Given the description of an element on the screen output the (x, y) to click on. 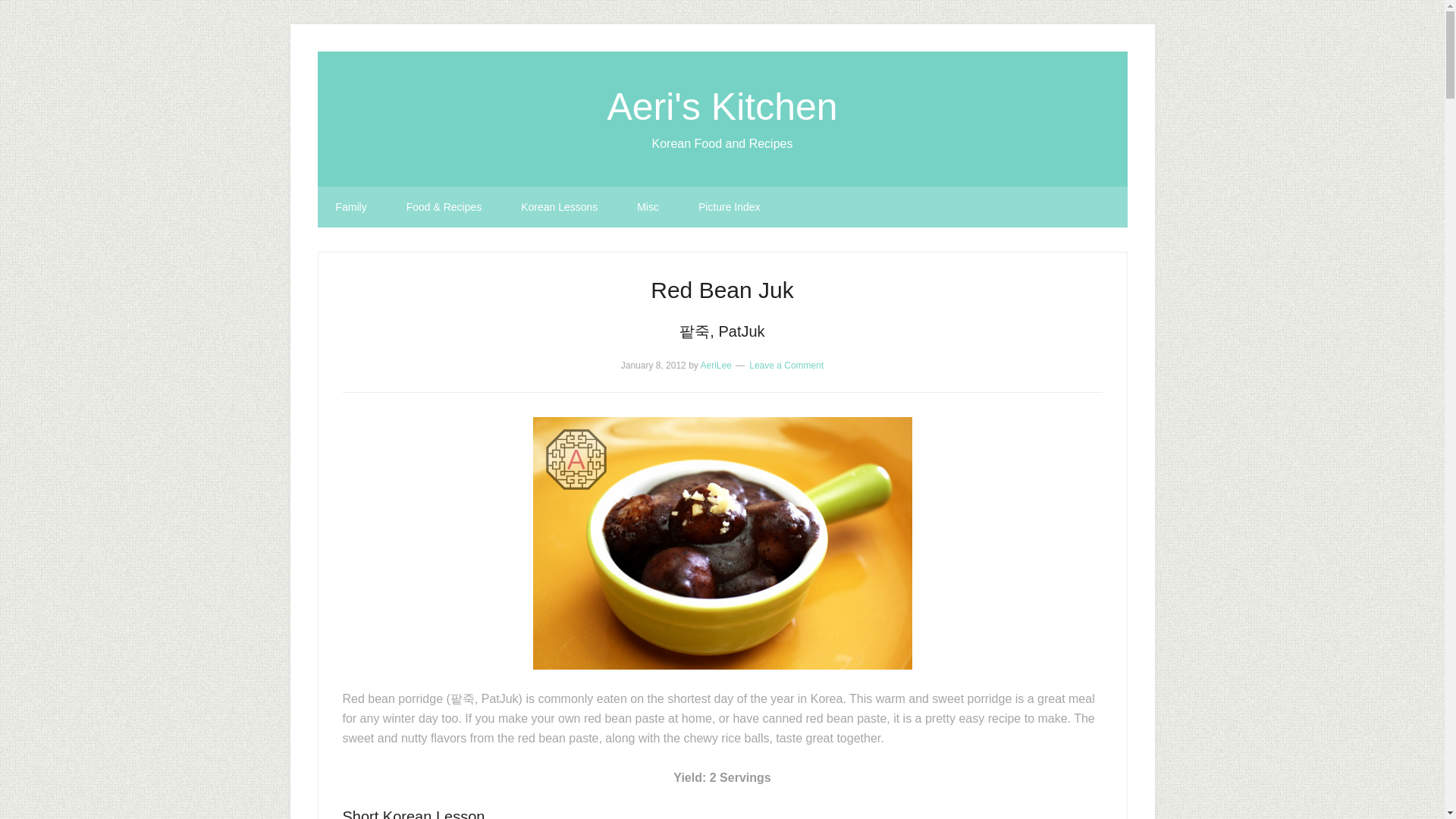
Aeri's Kitchen (722, 106)
Leave a Comment (786, 365)
Picture Index (728, 206)
Korean Lessons (558, 206)
Family (350, 206)
AeriLee (715, 365)
Misc (647, 206)
